Given the description of an element on the screen output the (x, y) to click on. 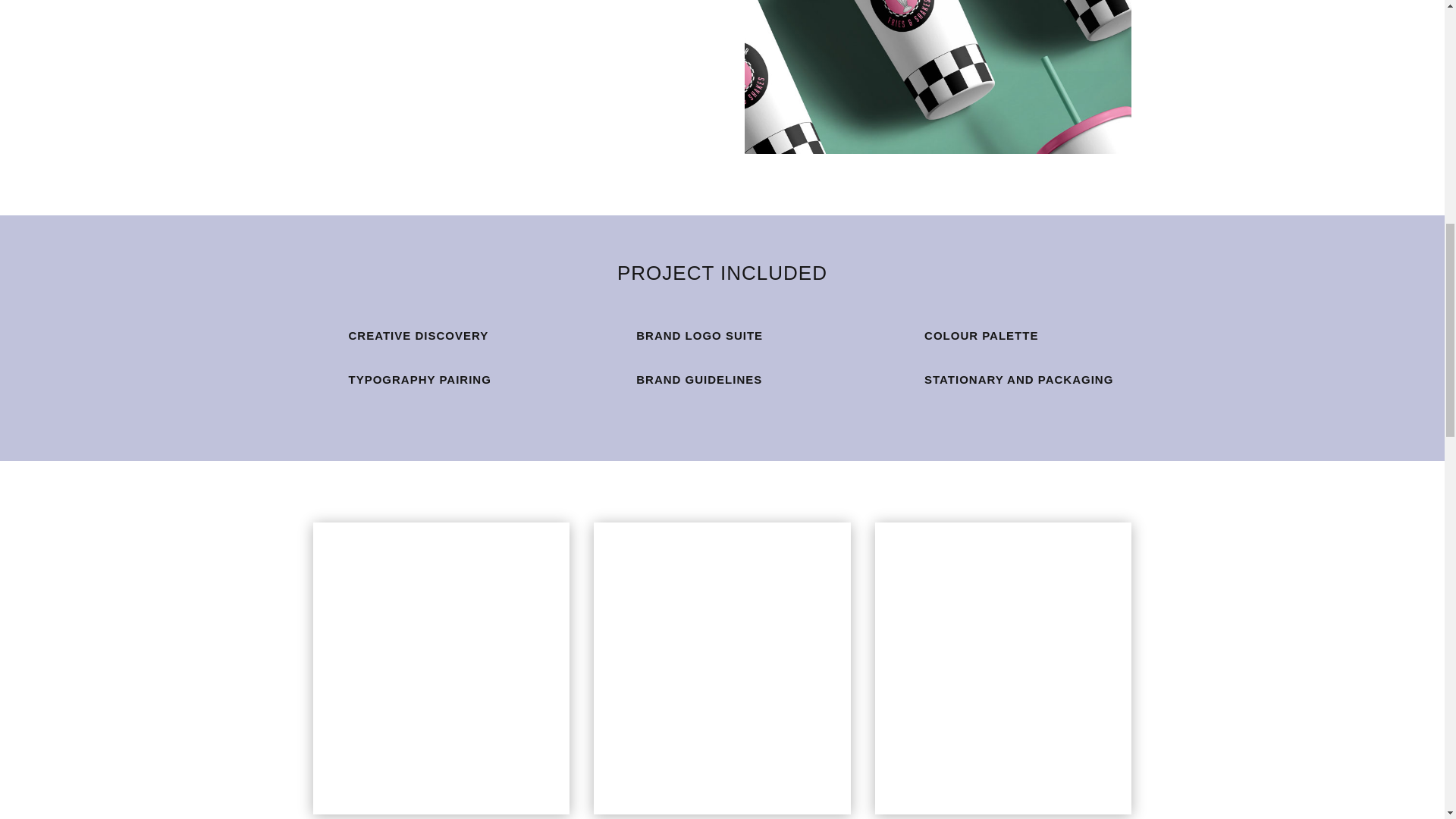
LT-SD-001 (937, 76)
